Given the description of an element on the screen output the (x, y) to click on. 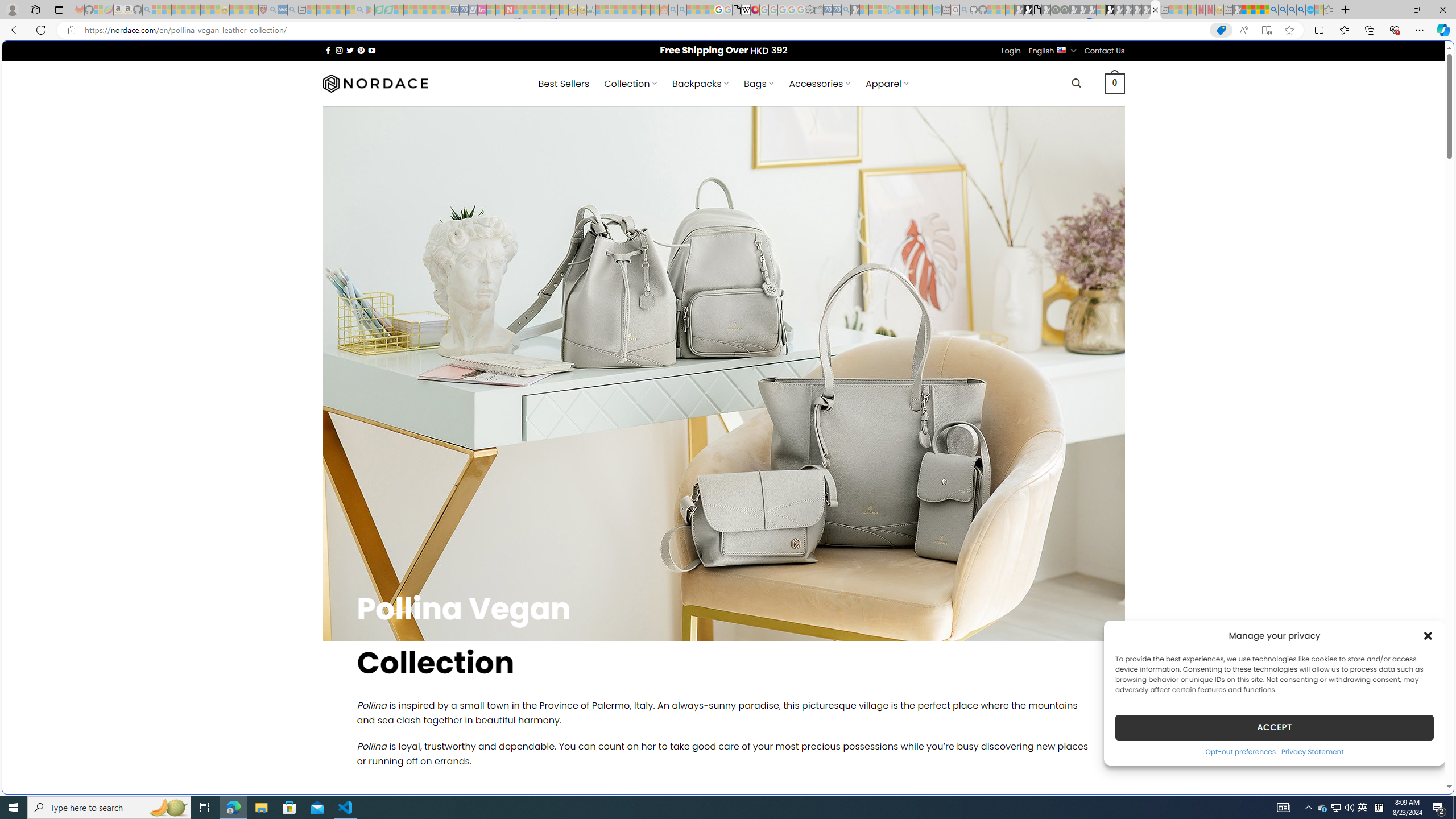
Settings - Sleeping (809, 9)
Cheap Car Rentals - Save70.com - Sleeping (836, 9)
English (1061, 49)
ACCEPT (1274, 727)
Tabs you've opened (885, 151)
